Given the description of an element on the screen output the (x, y) to click on. 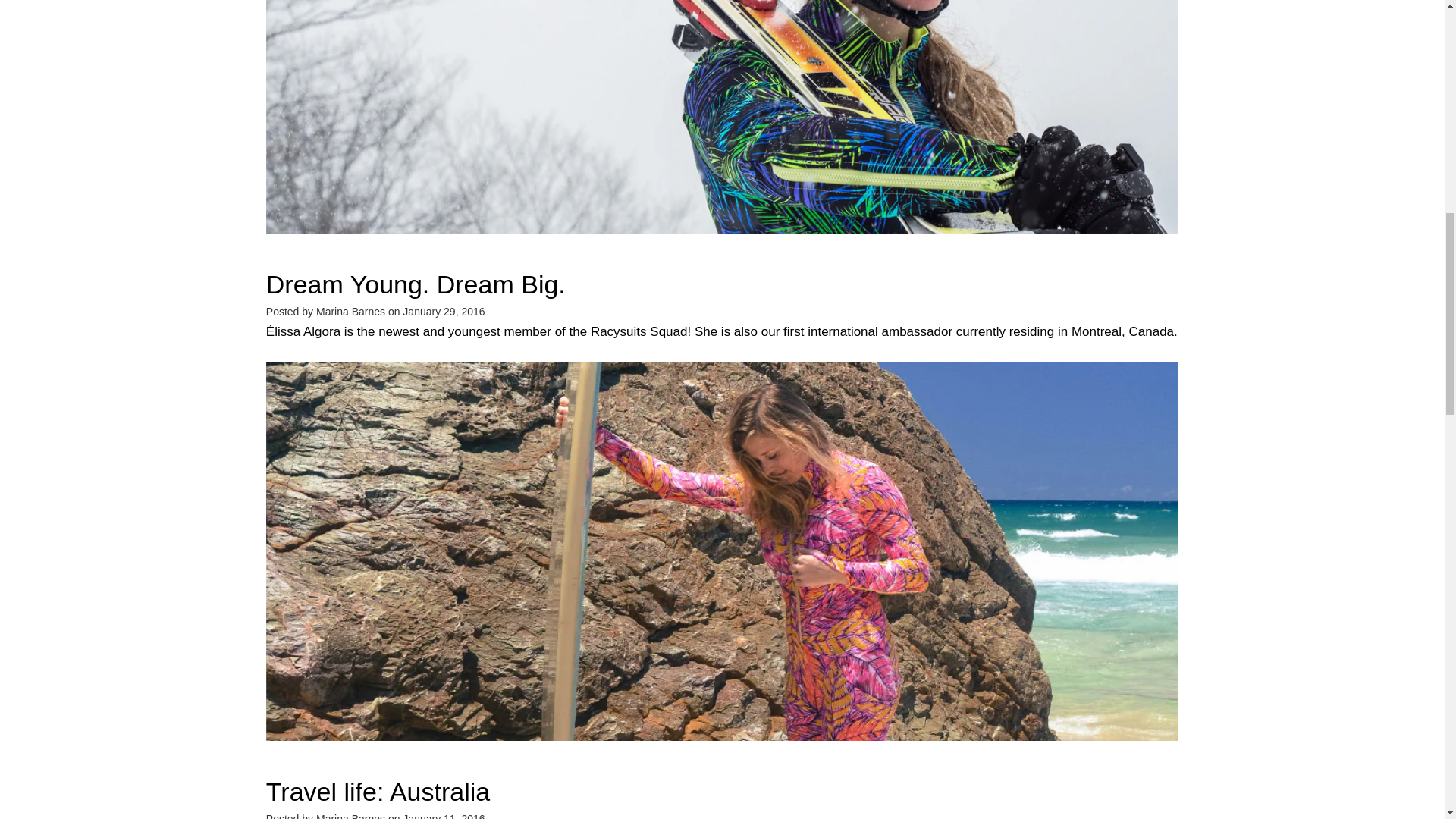
Travel life: Australia (377, 791)
Dream Young. Dream Big. (416, 284)
